Given the description of an element on the screen output the (x, y) to click on. 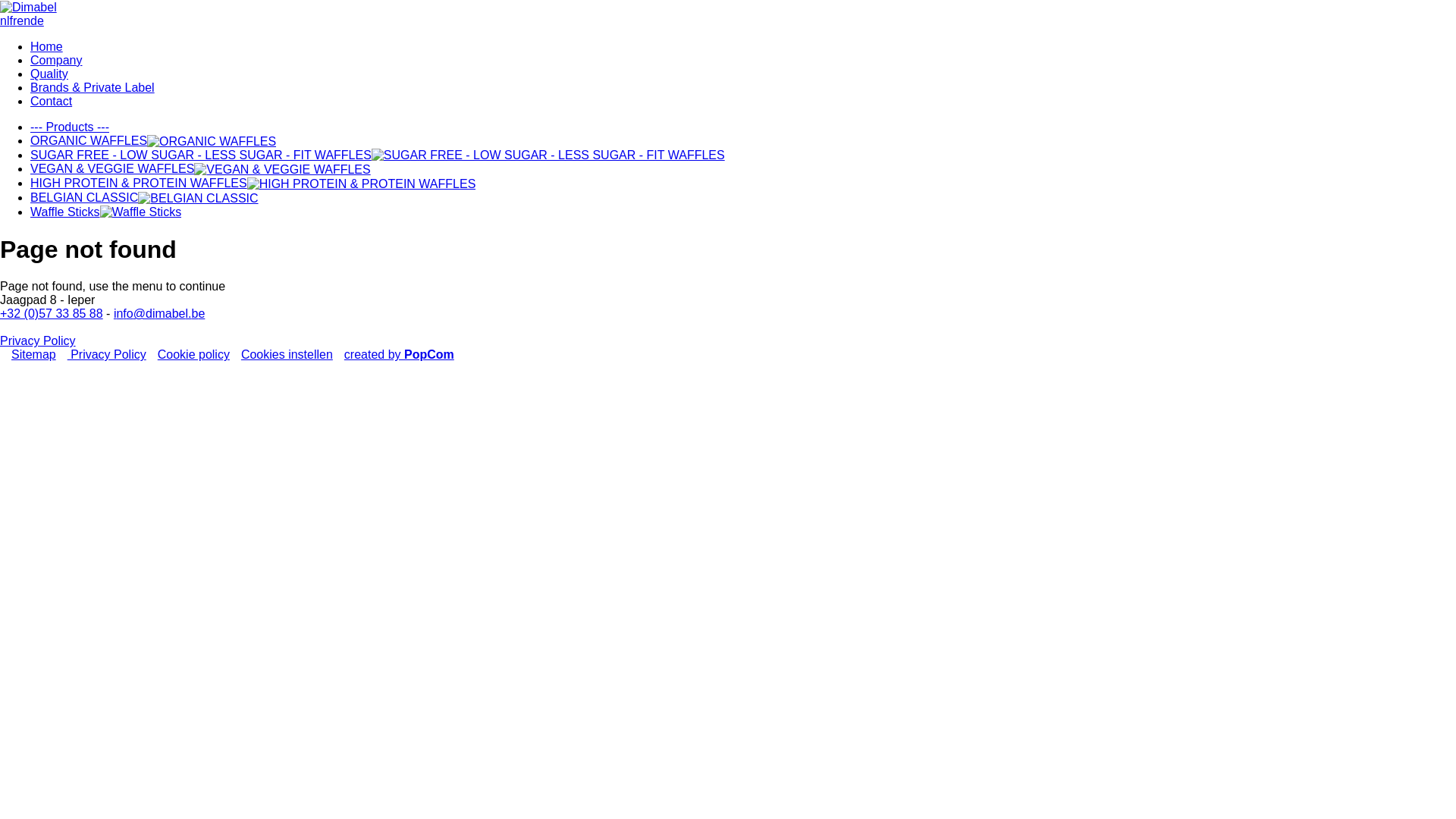
Brands & Private Label Element type: text (92, 87)
Waffle Sticks Element type: text (105, 211)
Privacy Policy Element type: text (37, 340)
VEGAN & VEGGIE WAFFLES Element type: text (200, 168)
SUGAR FREE - LOW SUGAR - LESS SUGAR - FIT WAFFLES Element type: text (377, 154)
Quality Element type: text (49, 73)
+32 (0)57 33 85 88 Element type: text (51, 313)
Cookies instellen Element type: text (286, 354)
BELGIAN CLASSIC Element type: text (144, 197)
Company Element type: text (55, 59)
created by PopCom Element type: text (399, 354)
Contact Element type: text (51, 100)
ORGANIC WAFFLES Element type: text (153, 140)
Privacy Policy Element type: text (106, 354)
Cookie policy Element type: text (193, 354)
info@dimabel.be Element type: text (158, 313)
HIGH PROTEIN & PROTEIN WAFFLES Element type: text (252, 182)
de Element type: text (36, 20)
fr Element type: text (12, 20)
nl Element type: text (4, 20)
en Element type: text (23, 20)
Sitemap Element type: text (33, 354)
--- Products --- Element type: text (69, 126)
Home Element type: text (46, 46)
